Given the description of an element on the screen output the (x, y) to click on. 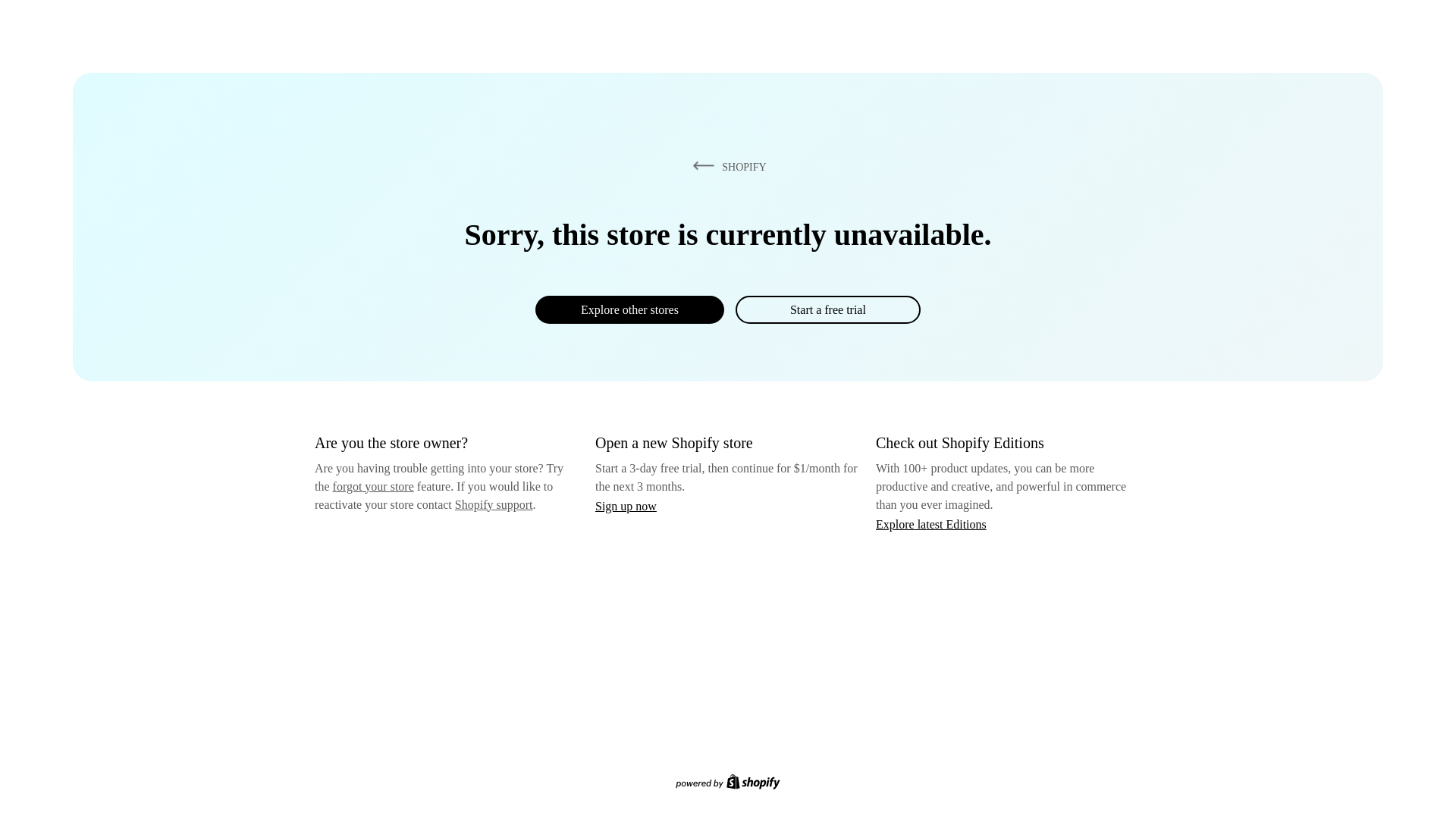
Explore latest Editions (931, 523)
Sign up now (625, 505)
Explore other stores (629, 309)
Start a free trial (827, 309)
Shopify support (493, 504)
SHOPIFY (726, 166)
forgot your store (373, 486)
